Given the description of an element on the screen output the (x, y) to click on. 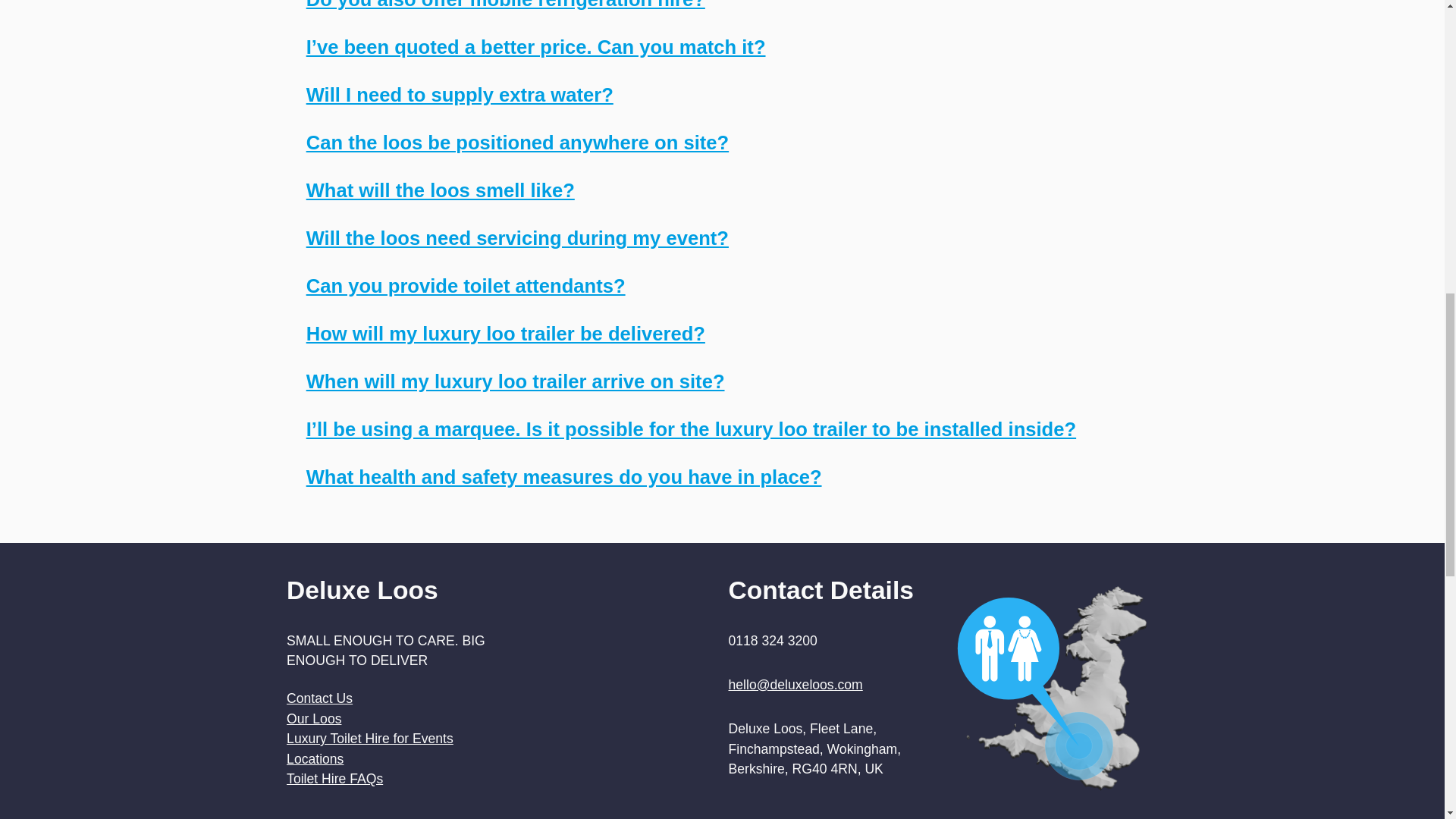
Do you also offer mobile refrigeration hire? (504, 4)
Can the loos be positioned anywhere on site? (517, 142)
What will the loos smell like? (440, 189)
Will I need to supply extra water? (458, 94)
